Given the description of an element on the screen output the (x, y) to click on. 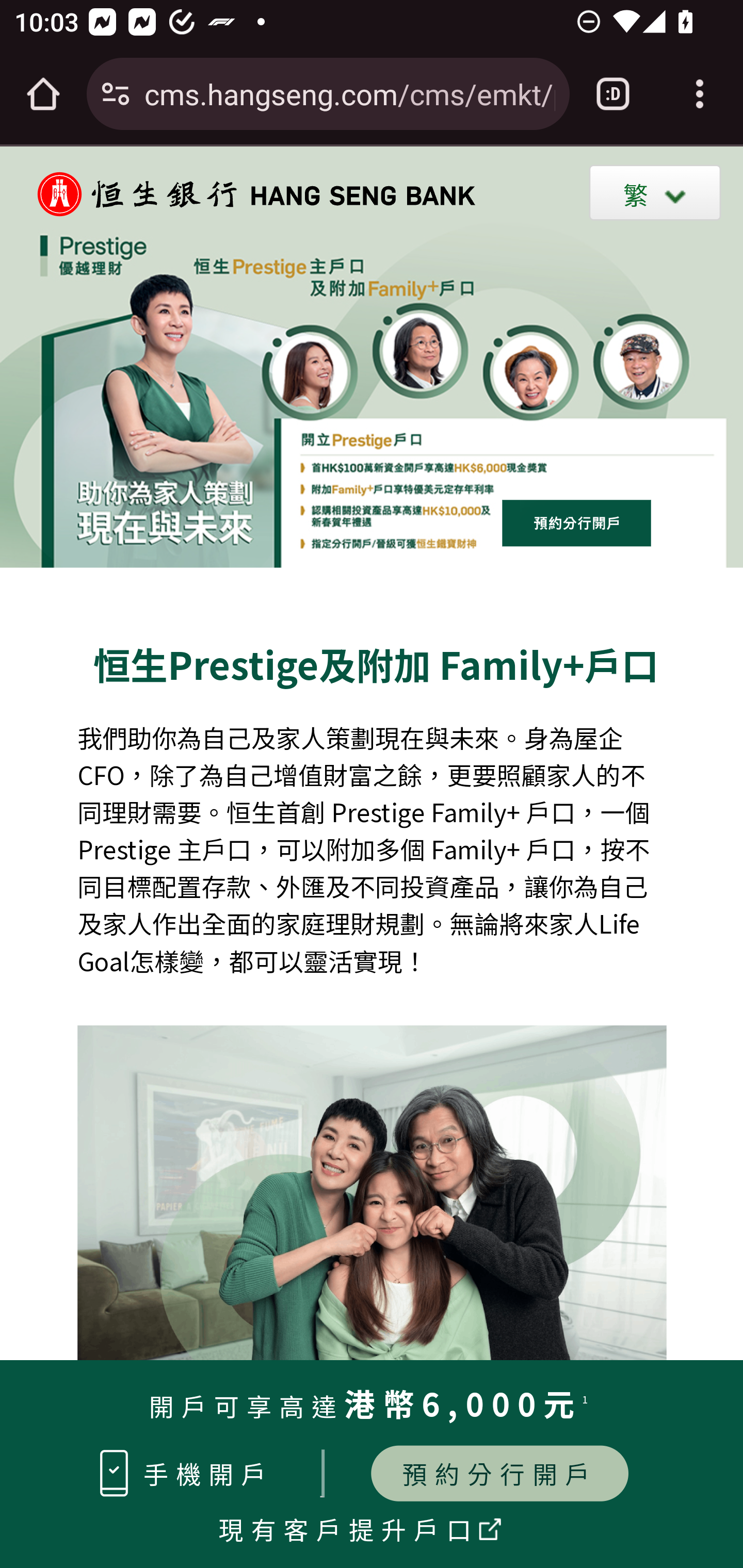
Open the home page (43, 93)
Connection is secure (115, 93)
Switch or close tabs (612, 93)
Customize and control Google Chrome (699, 93)
恒生銀行 Hang Sang Bank (246, 193)
繁  繁    (655, 192)
banner-cta (577, 522)
開戶可享高達 港幣6,000元 1 開戶可享高達 港幣6,000元 1 (372, 1407)
預約分行開戶 (499, 1473)
手機開戶 (208, 1472)
現有客戶提升戶口 (348, 1527)
